Given the description of an element on the screen output the (x, y) to click on. 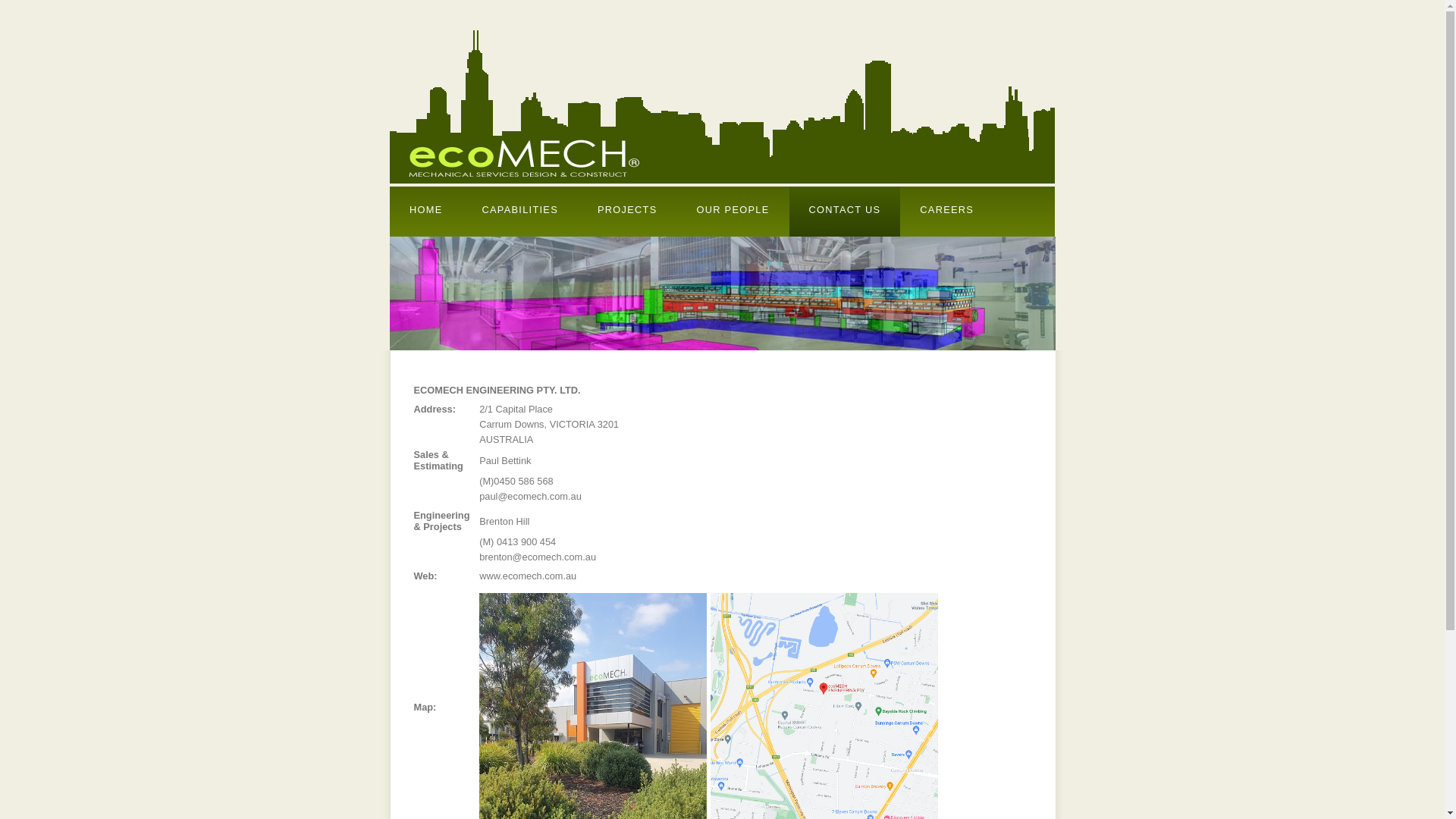
CONTACT US Element type: text (844, 209)
CAREERS Element type: text (946, 209)
HOME Element type: text (425, 209)
PROJECTS Element type: text (627, 209)
CAPABILITIES Element type: text (519, 209)
OUR PEOPLE Element type: text (732, 209)
